Given the description of an element on the screen output the (x, y) to click on. 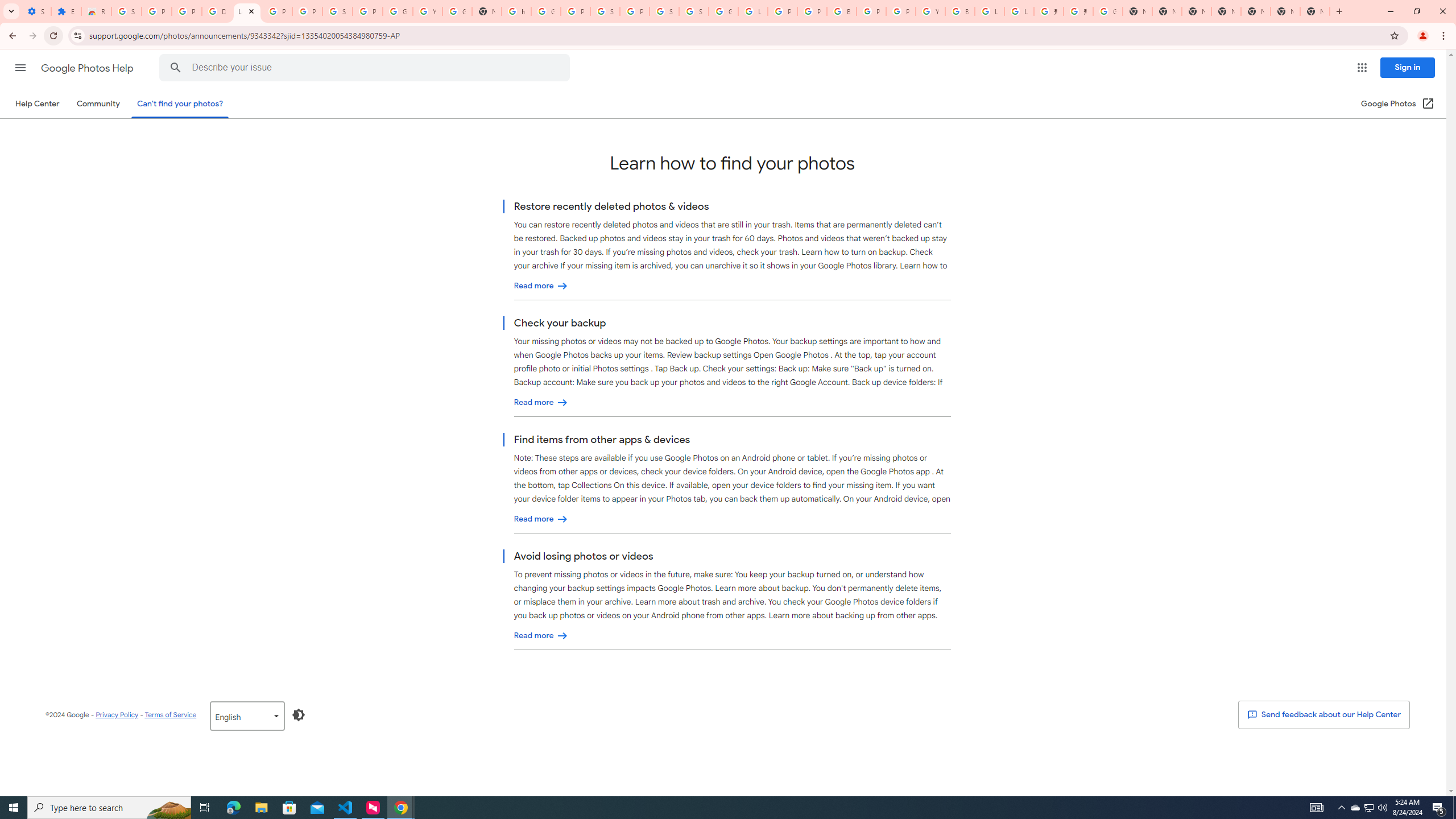
Reviews: Helix Fruit Jump Arcade Game (95, 11)
New Tab (1226, 11)
Google Images (1107, 11)
Settings - On startup (36, 11)
